Given the description of an element on the screen output the (x, y) to click on. 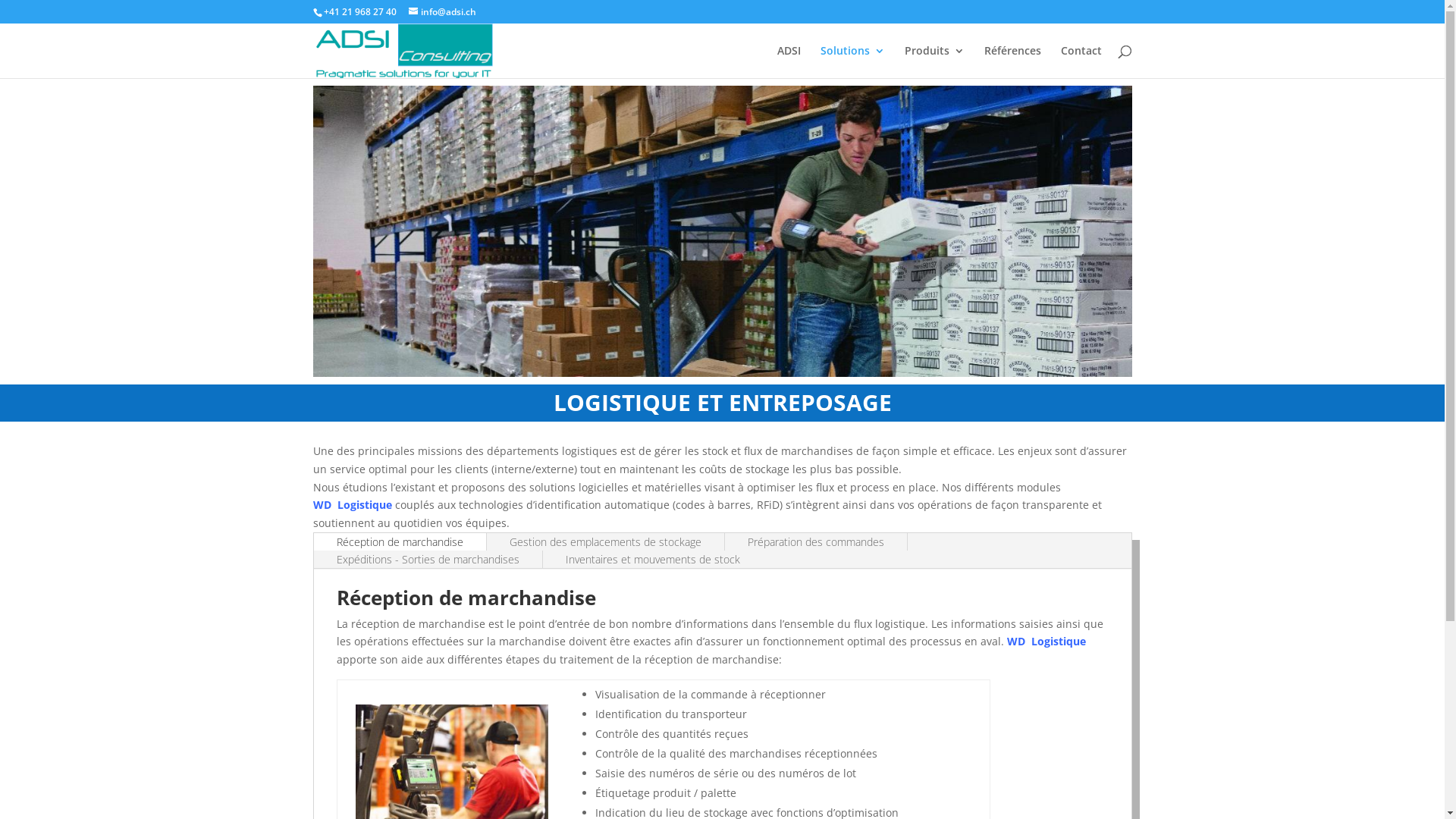
Produits Element type: text (933, 61)
Inventaires et mouvements de stock Element type: text (652, 558)
ADSI Element type: text (788, 61)
Solutions Element type: text (852, 61)
info@adsi.ch Element type: text (441, 11)
Contact Element type: text (1080, 61)
Gestion des emplacements de stockage Element type: text (605, 541)
Solutions logicielles Element type: hover (721, 230)
